Given the description of an element on the screen output the (x, y) to click on. 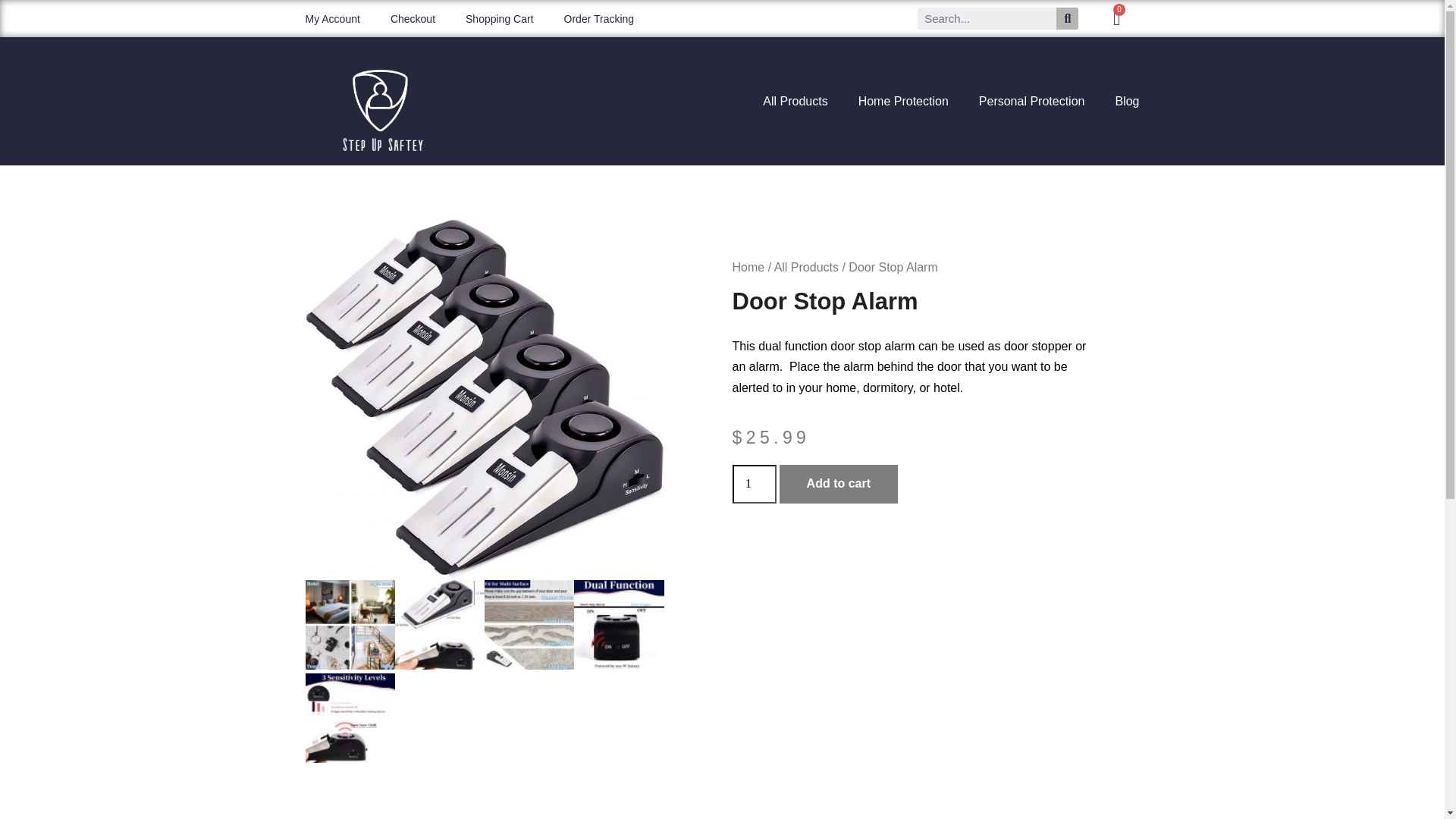
Shopping Cart (498, 18)
Home Protection (903, 100)
Search (987, 18)
Home (748, 267)
Order Tracking (598, 18)
Personal Protection (1031, 100)
Search (1067, 18)
Door Stop Alarm6 (349, 624)
Door Stop Alarm (483, 399)
My Account (331, 18)
Door Stop Alarm4 (528, 624)
Add to cart (838, 483)
Door Stop Alarm3 (618, 624)
Door Stop Alarm2 (349, 717)
All Products (806, 267)
